Given the description of an element on the screen output the (x, y) to click on. 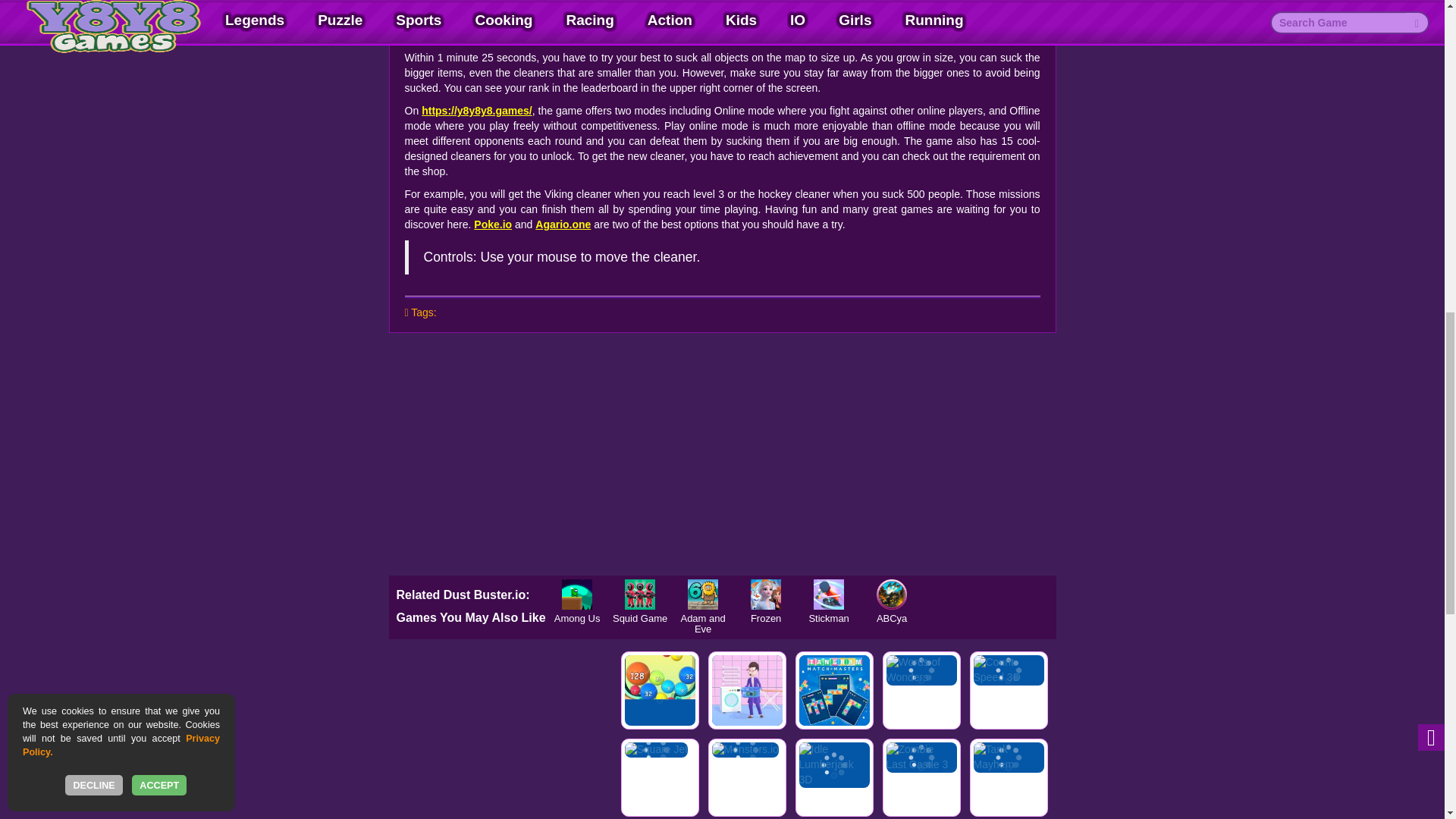
Adam and Eve (703, 594)
Among Us (577, 594)
Stickman (828, 594)
Stickman (828, 594)
ABCya (891, 594)
ABCya (891, 594)
Y8Y8 game Y8 (498, 19)
Adam and Eve (703, 594)
Frozen (766, 594)
Poke.io (493, 224)
Frozen (766, 594)
Among Us (577, 594)
Squid Game (639, 594)
Squid Game (639, 594)
